Given the description of an element on the screen output the (x, y) to click on. 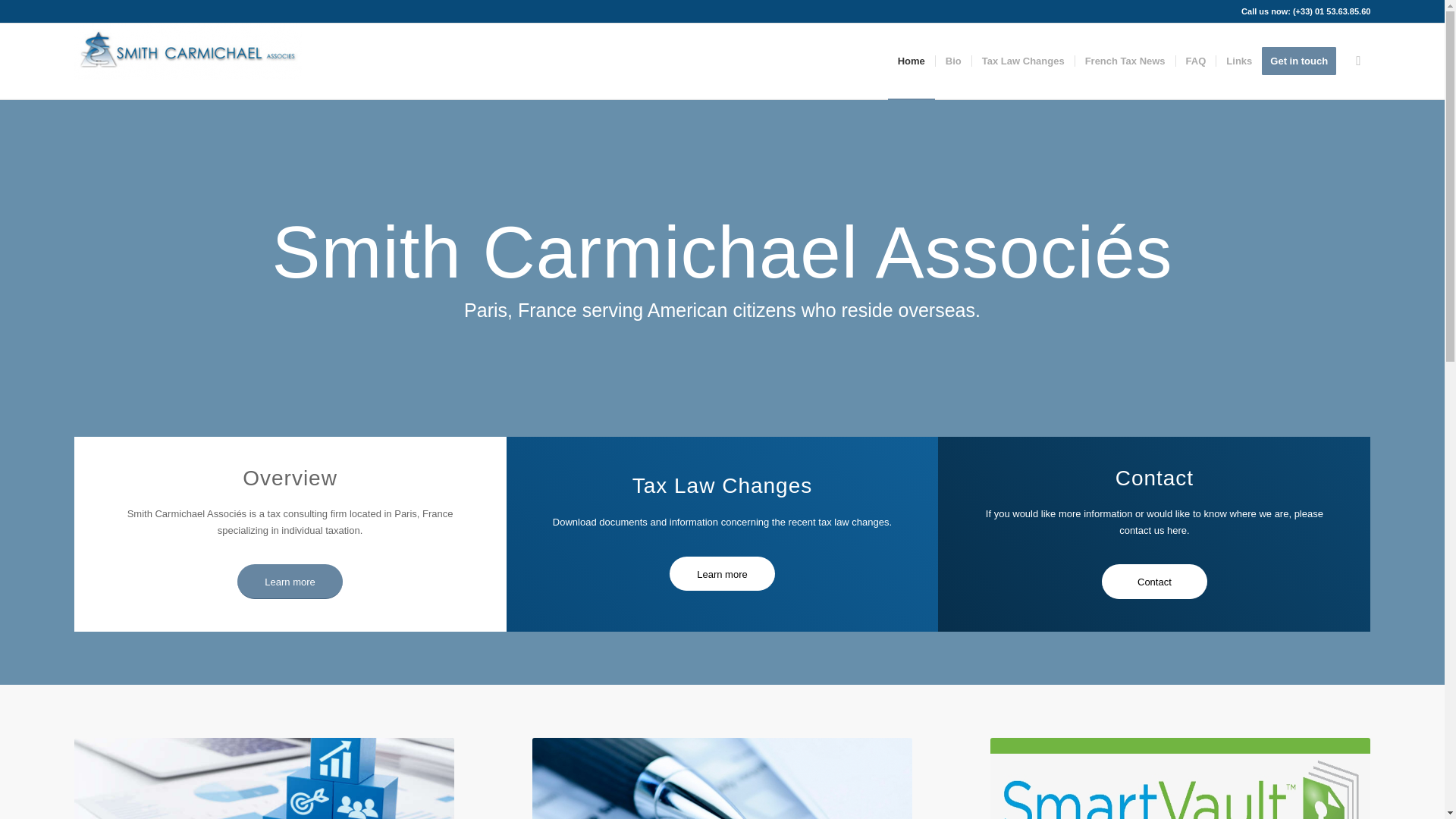
Smith Carmichael Bio (264, 778)
Contact (1154, 581)
Tax Law Changes (1022, 61)
SmartVault Customer Center (1180, 778)
Learn more (721, 573)
Learn more (289, 581)
Tax Law Changes (1022, 61)
Get in touch (1303, 61)
Upcoming Deadlines (722, 778)
French Tax News (1124, 61)
